Given the description of an element on the screen output the (x, y) to click on. 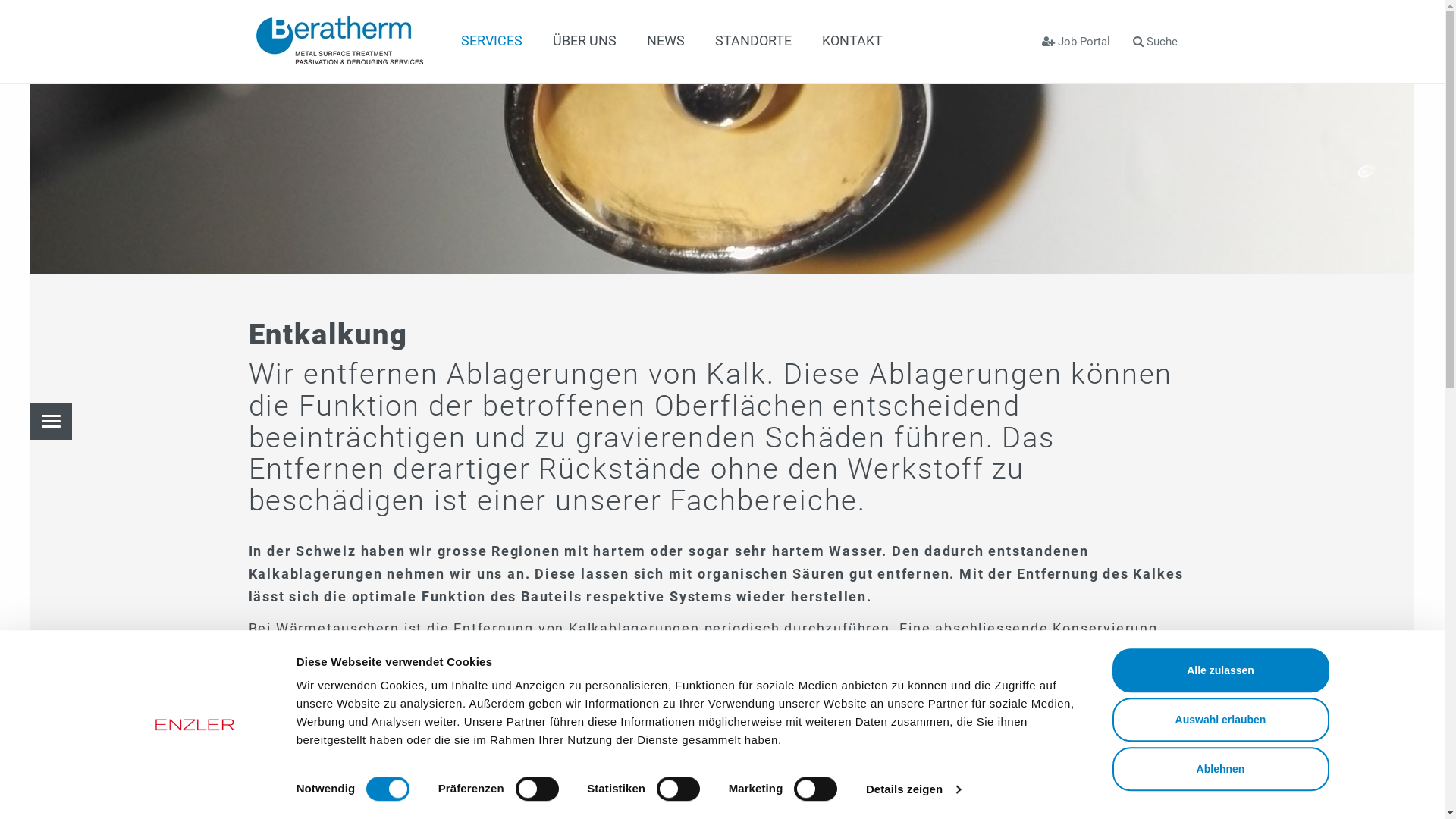
KONTAKT Element type: text (851, 40)
SERVICES Element type: text (51, 421)
Details zeigen Element type: text (913, 789)
Job-Portal Element type: text (1074, 41)
Beratherm AG Element type: hover (339, 40)
STANDORTE Element type: text (752, 40)
NEWS Element type: text (664, 40)
Alle zulassen Element type: text (1219, 670)
SERVICES Element type: text (491, 40)
Auswahl erlauben Element type: text (1219, 719)
Kalk Element type: hover (722, 136)
Ablehnen Element type: text (1219, 768)
Beratherm Logo Element type: hover (339, 40)
Suche Element type: text (1154, 41)
